Given the description of an element on the screen output the (x, y) to click on. 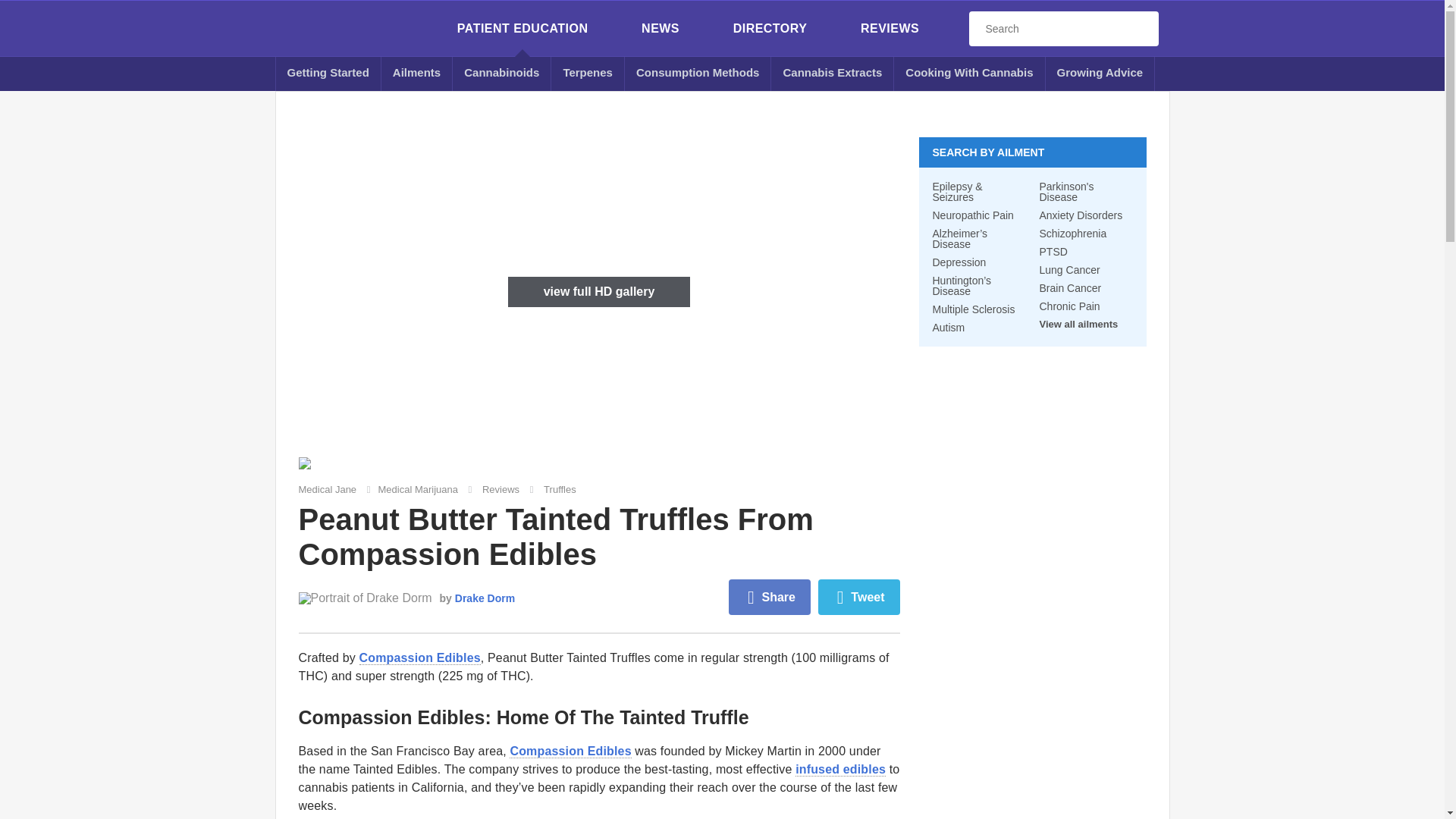
Consumption Methods (697, 73)
Terpenes (587, 73)
Getting Started (327, 73)
Peanut Butter Tainted Truffles From Compassion Edibles (304, 463)
Ailments (416, 73)
Cannabinoids (501, 73)
Cannabis Extracts (832, 73)
Drake Dorm (365, 598)
REVIEWS (889, 28)
